Given the description of an element on the screen output the (x, y) to click on. 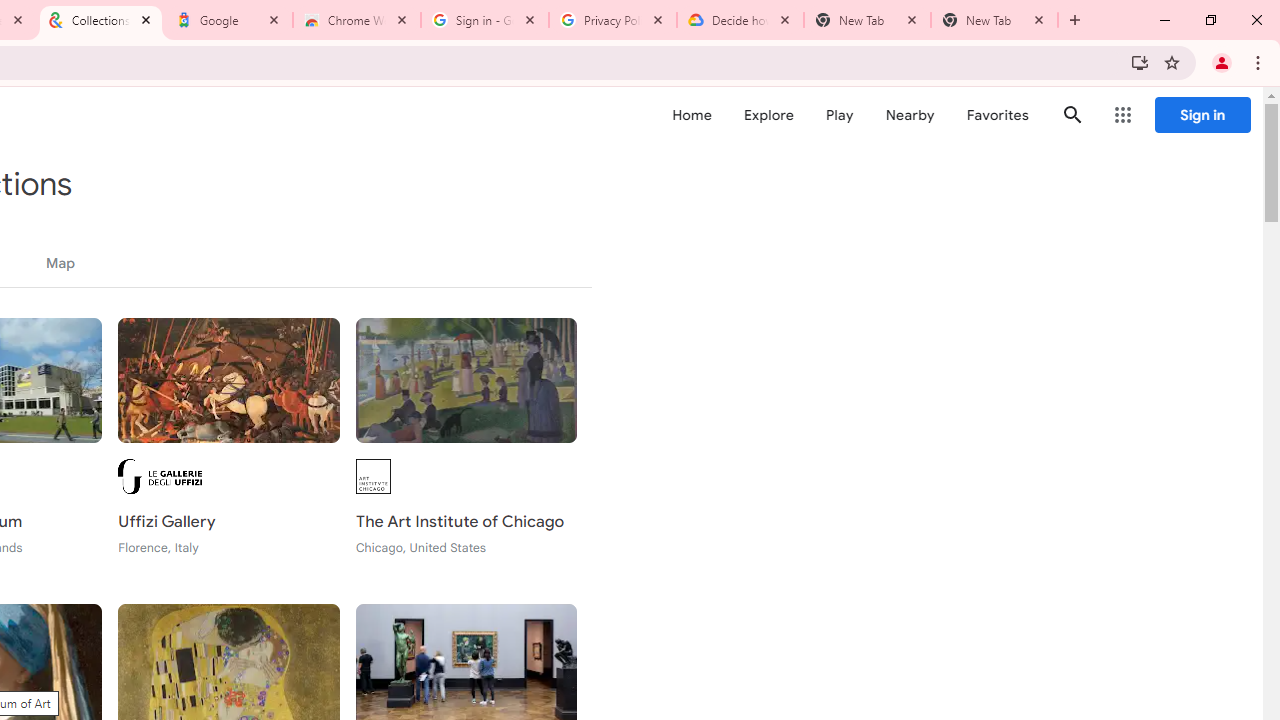
Sign in - Google Accounts (485, 20)
Install Google Arts & Culture (1139, 62)
New Tab (994, 20)
Google (229, 20)
Explore (768, 115)
Chrome Web Store - Color themes by Chrome (357, 20)
